Given the description of an element on the screen output the (x, y) to click on. 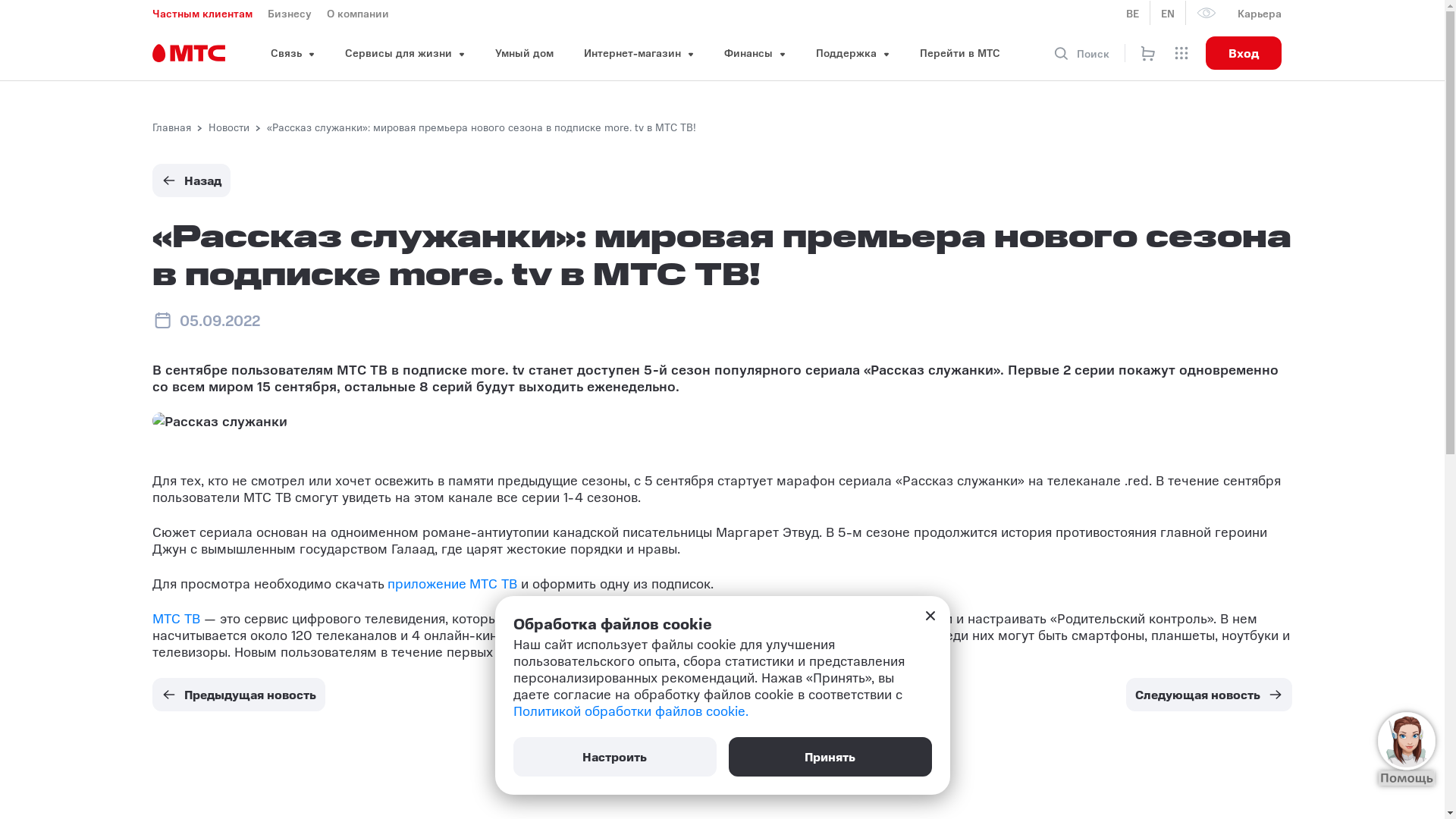
EN Element type: text (1168, 12)
BE Element type: text (1132, 12)
